Given the description of an element on the screen output the (x, y) to click on. 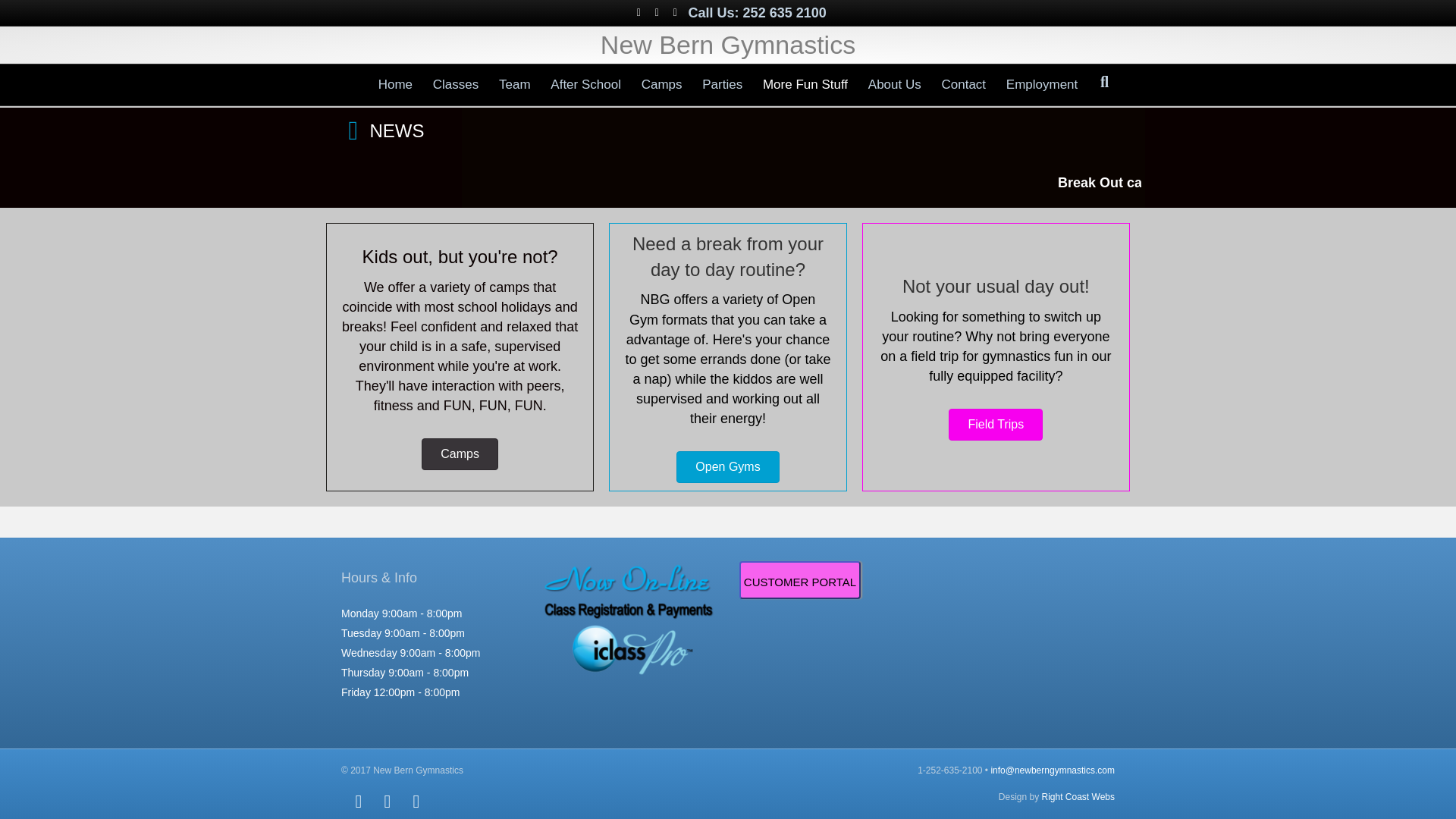
More Fun Stuff (805, 84)
Classes (455, 84)
Parties (722, 84)
Contact (963, 84)
Team (514, 84)
New Bern Gymnastics (727, 44)
Camps (459, 454)
Twitter (656, 11)
Field Trips (995, 424)
After School (584, 84)
